Given the description of an element on the screen output the (x, y) to click on. 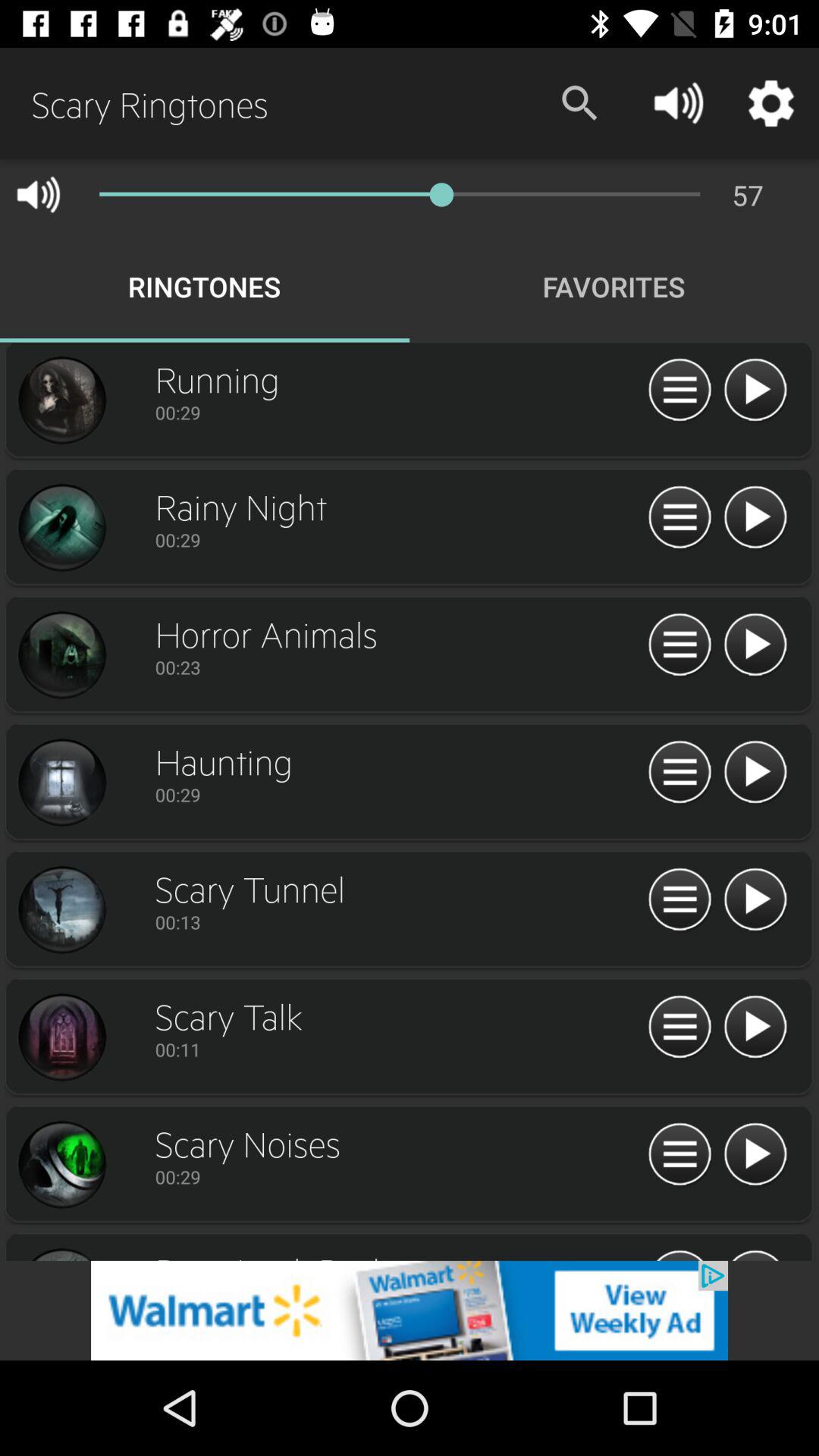
go to pay option (755, 1027)
